Given the description of an element on the screen output the (x, y) to click on. 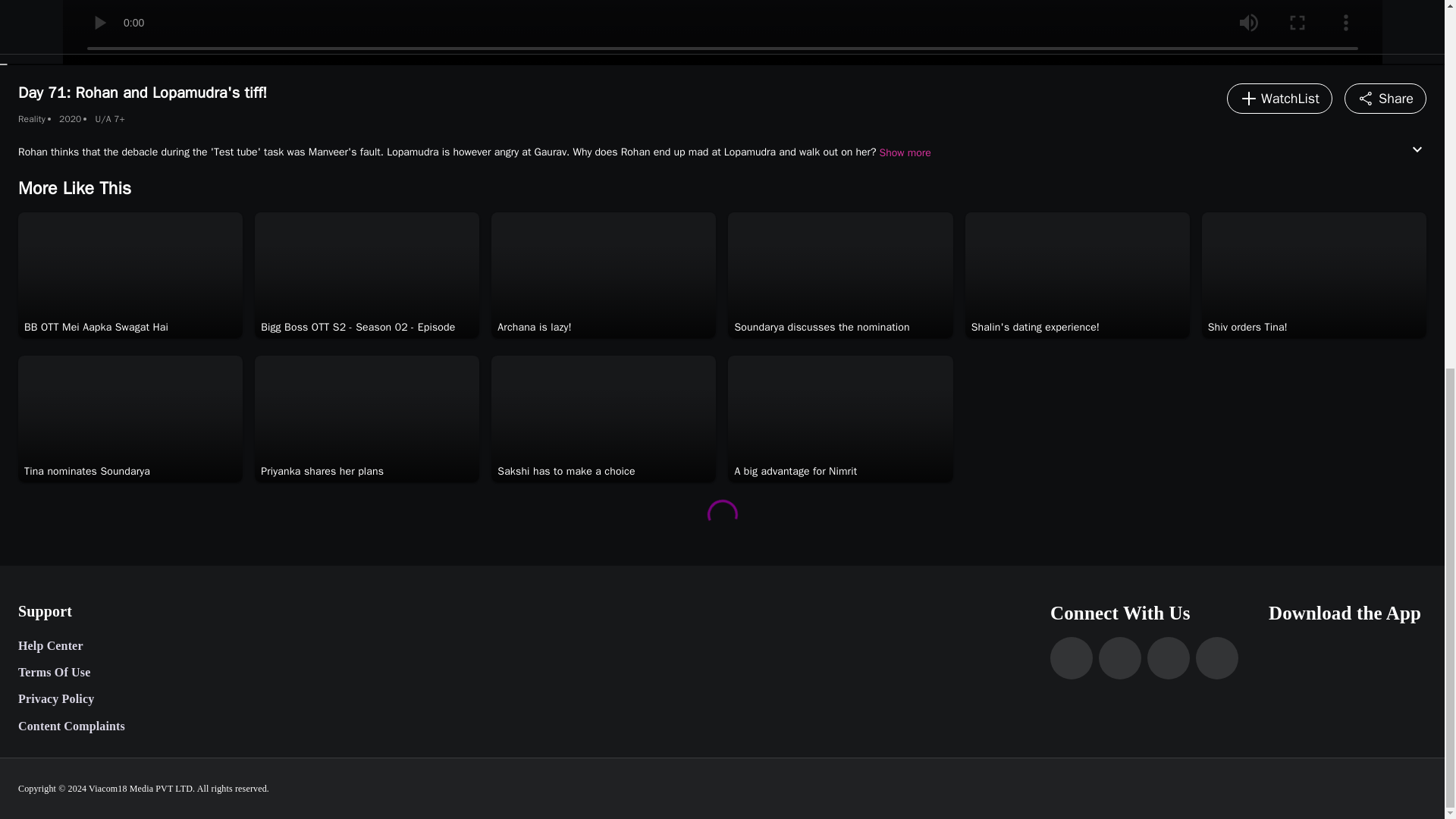
BB OTT Mei Aapka Swagat Hai (96, 327)
Archana is lazy! (533, 327)
Soundarya discusses the nomination (820, 327)
Share (1384, 98)
Day 71: Rohan and Lopamudra's tiff! (721, 32)
Shalin's dating experience! (1035, 327)
WatchList (1279, 98)
Bigg Boss OTT S2 - Season 02 - Episode (357, 327)
